Given the description of an element on the screen output the (x, y) to click on. 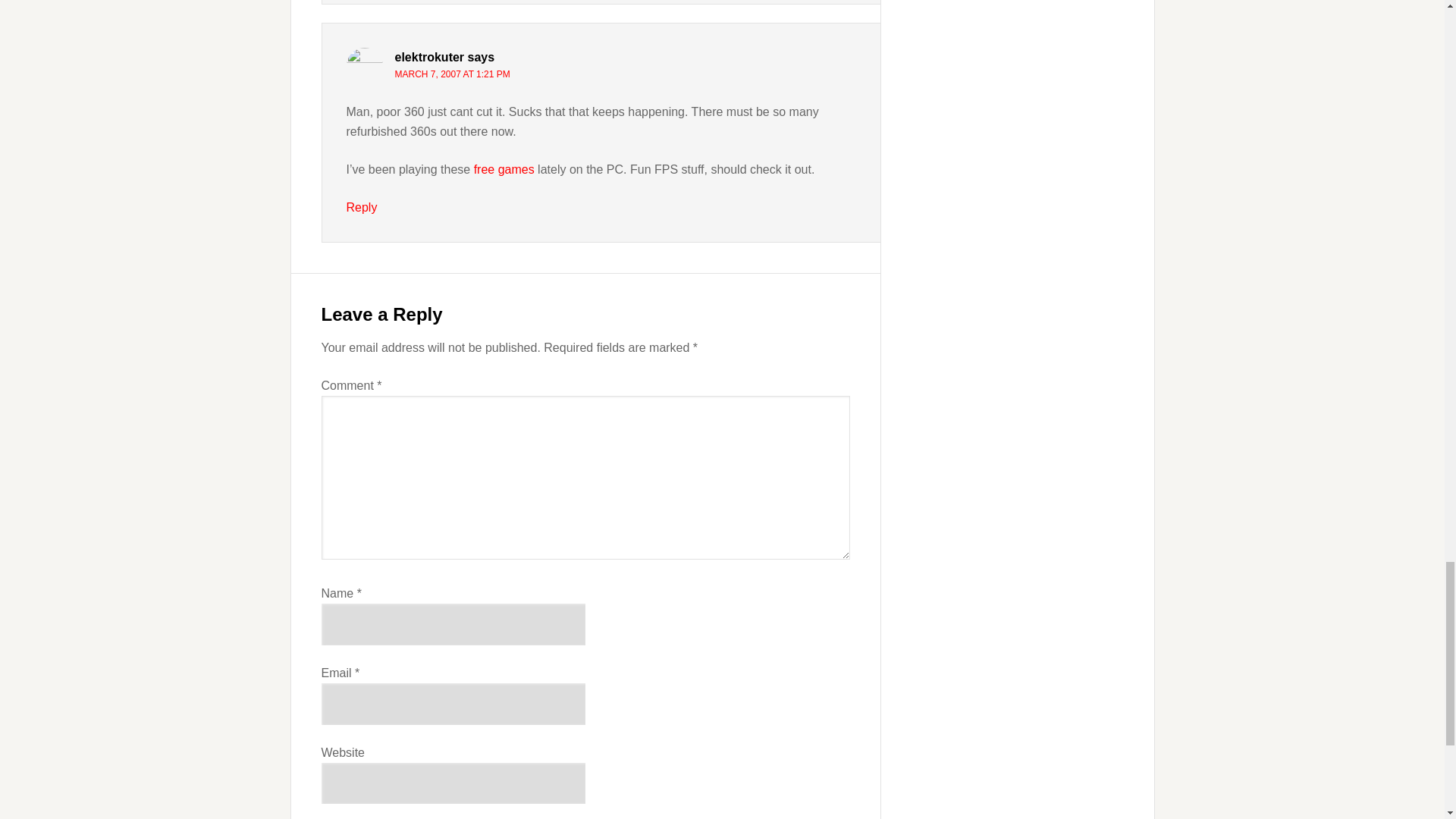
free games (504, 169)
MARCH 7, 2007 AT 1:21 PM (451, 73)
